Given the description of an element on the screen output the (x, y) to click on. 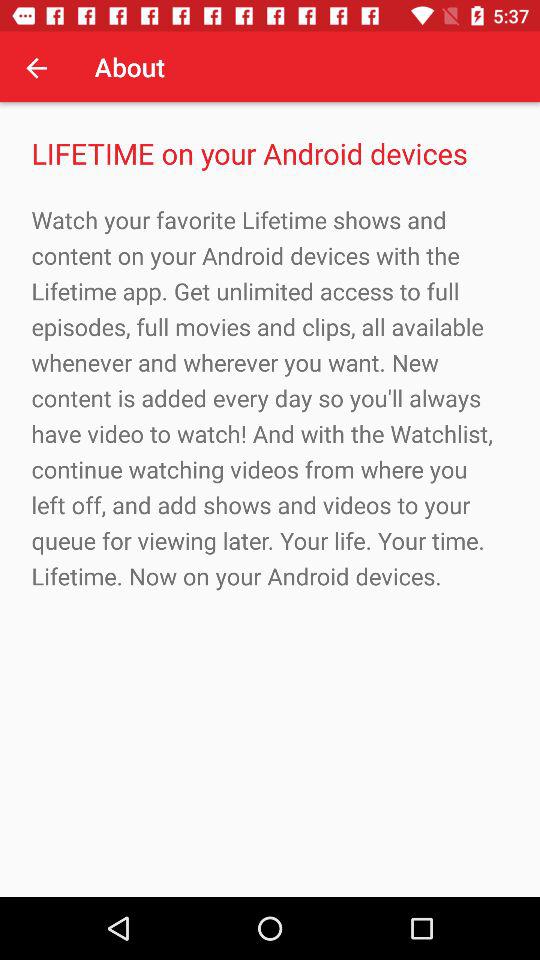
click the icon below lifetime on your icon (269, 398)
